Given the description of an element on the screen output the (x, y) to click on. 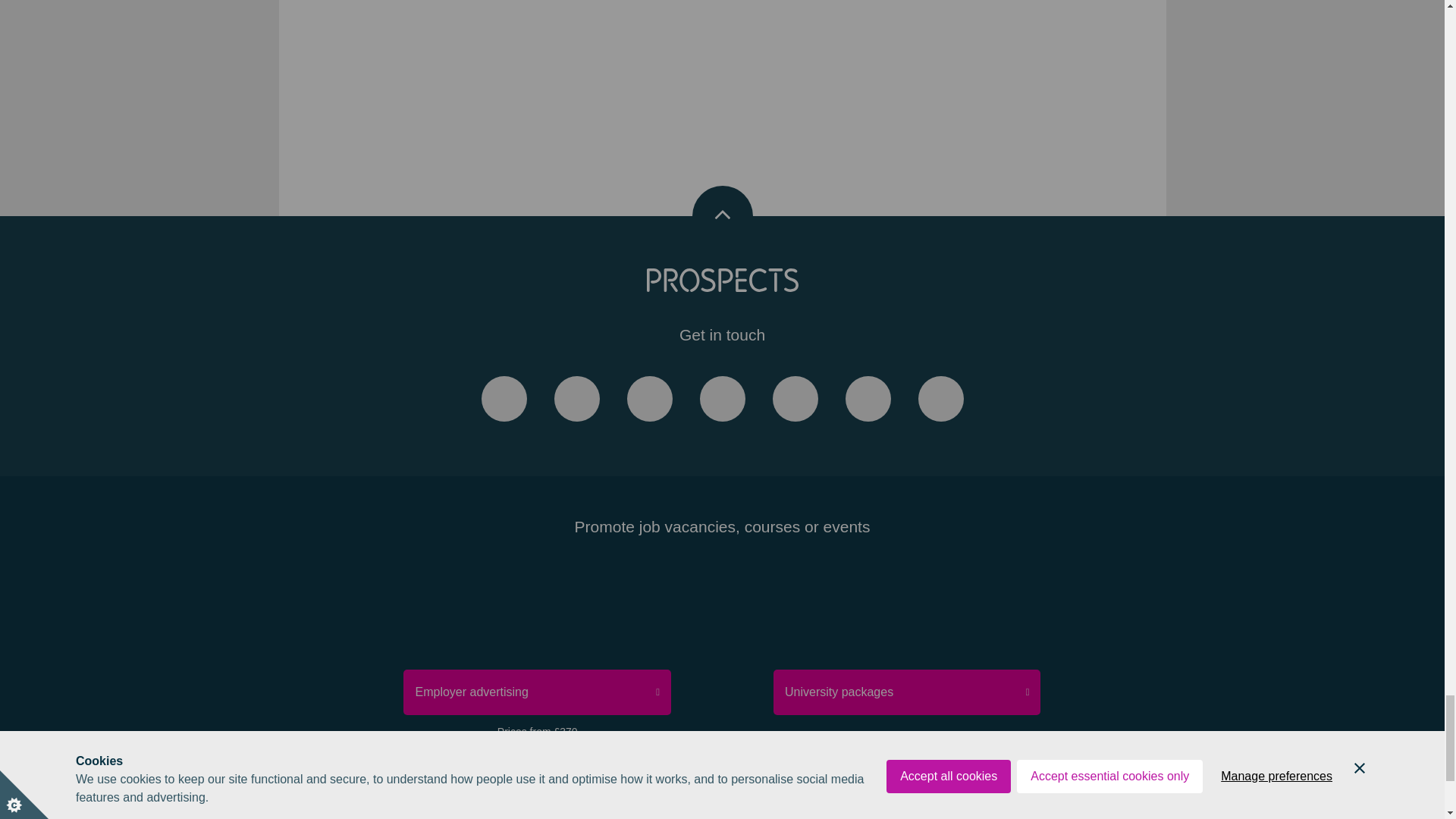
Back to top (721, 215)
3rd party ad content (519, 58)
